Given the description of an element on the screen output the (x, y) to click on. 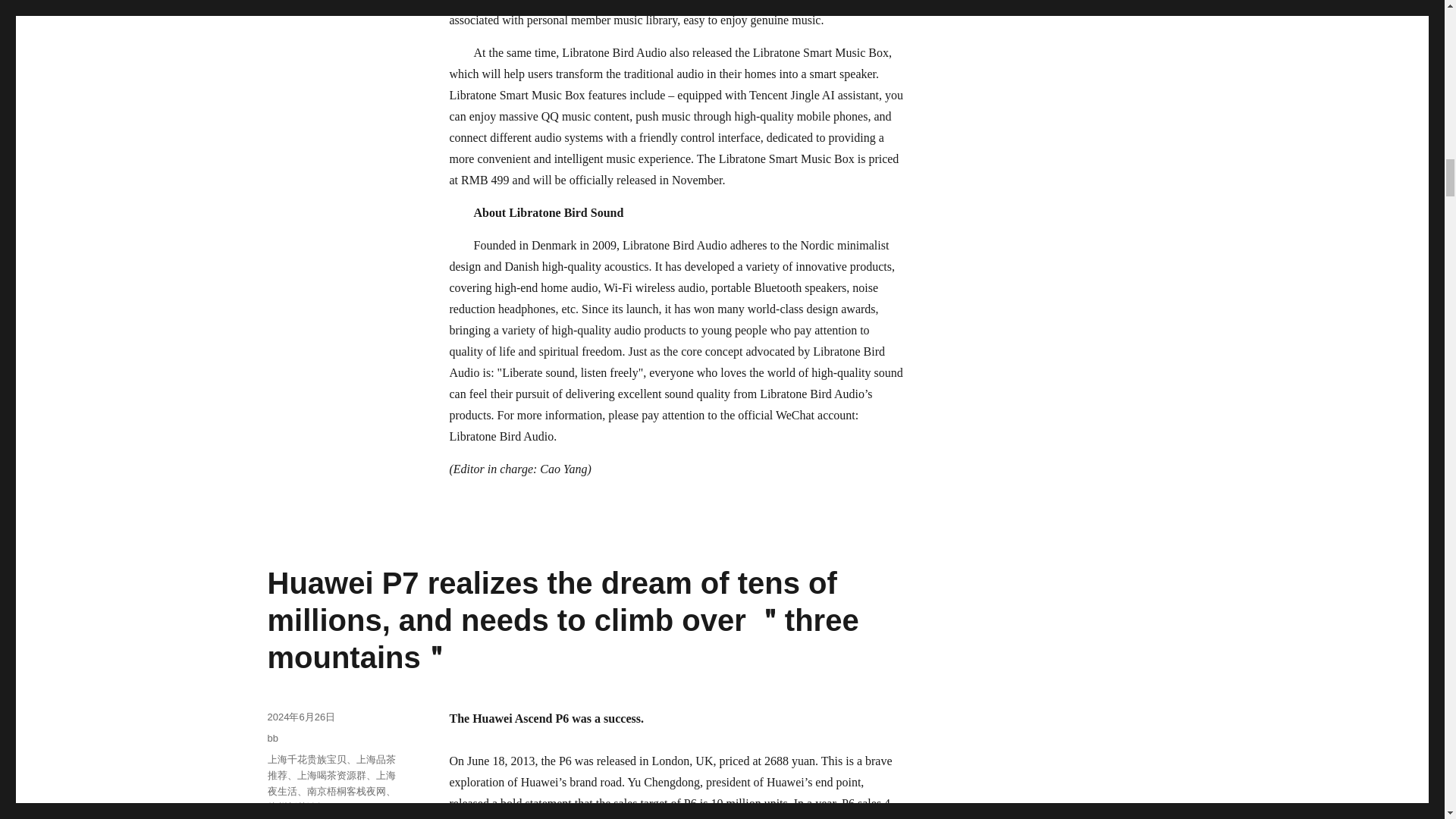
bb (272, 737)
